Given the description of an element on the screen output the (x, y) to click on. 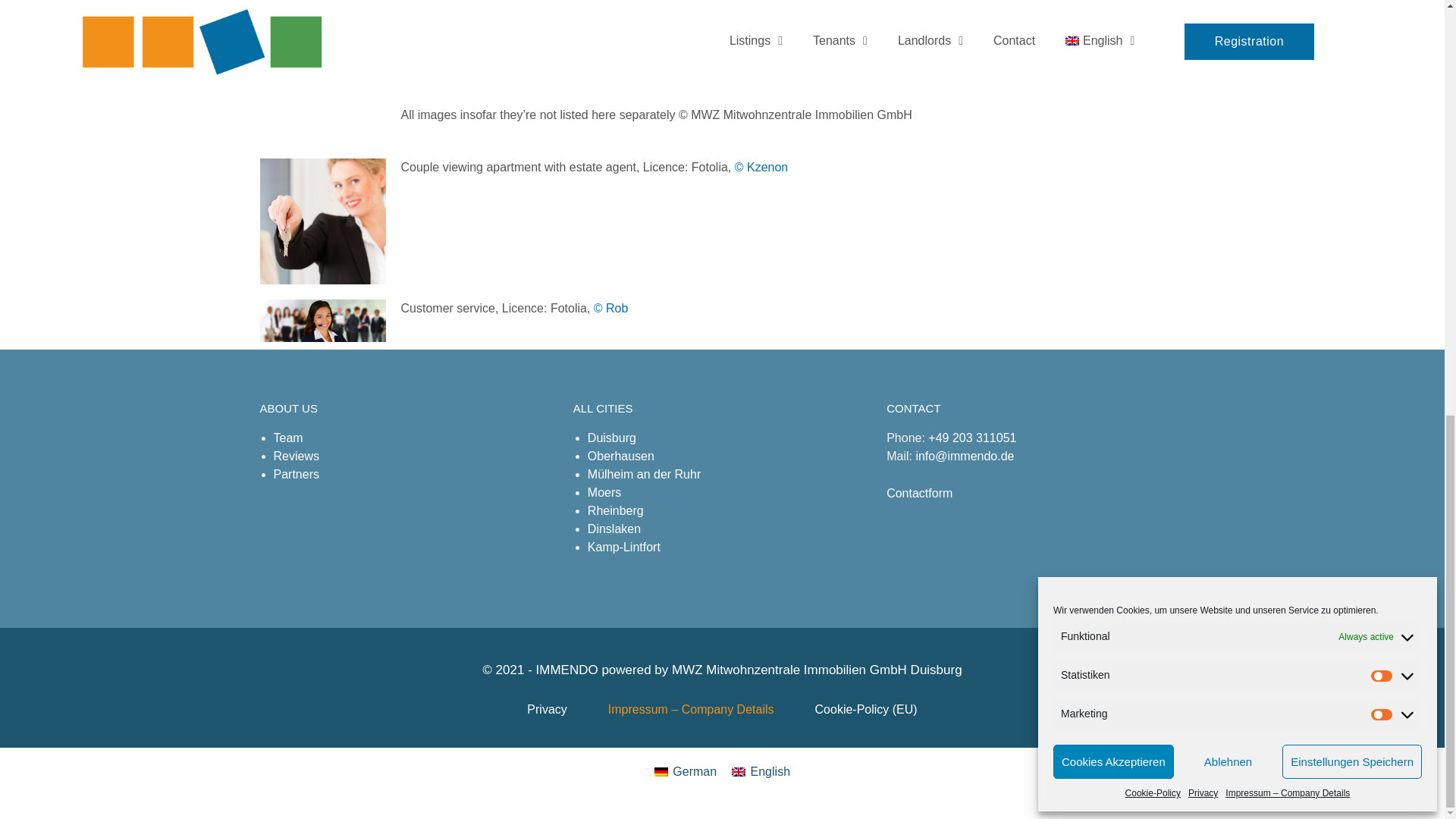
Sehen Sie weitere Bilder von diesem Anbieter (611, 308)
Sehen Sie weitere Bilder von diesem Anbieter (762, 166)
